Given the description of an element on the screen output the (x, y) to click on. 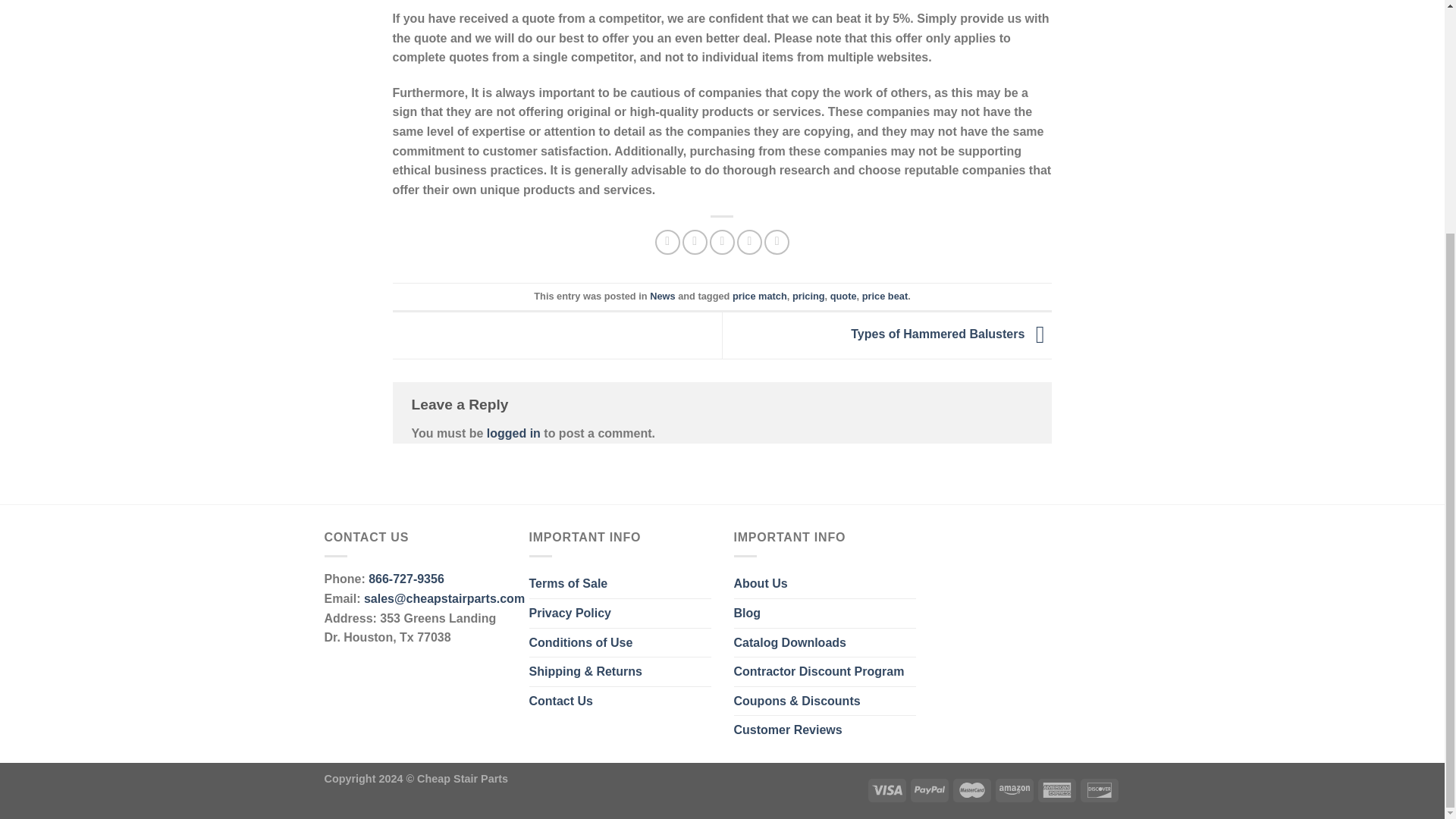
Share on Twitter (694, 242)
Email to a Friend (722, 242)
Pin on Pinterest (748, 242)
Share on Facebook (667, 242)
Share on LinkedIn (776, 242)
